Given the description of an element on the screen output the (x, y) to click on. 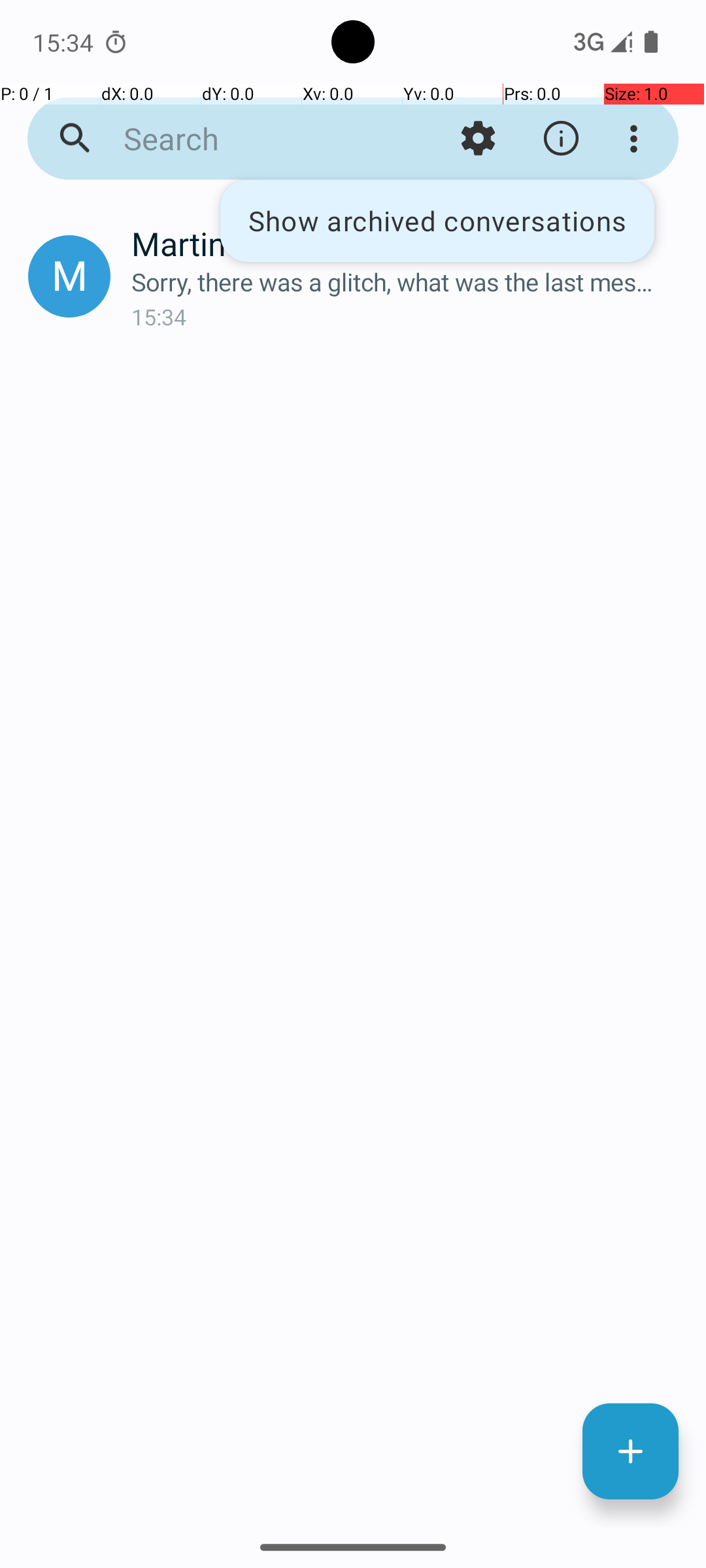
Show archived conversations Element type: android.widget.TextView (436, 220)
